Given the description of an element on the screen output the (x, y) to click on. 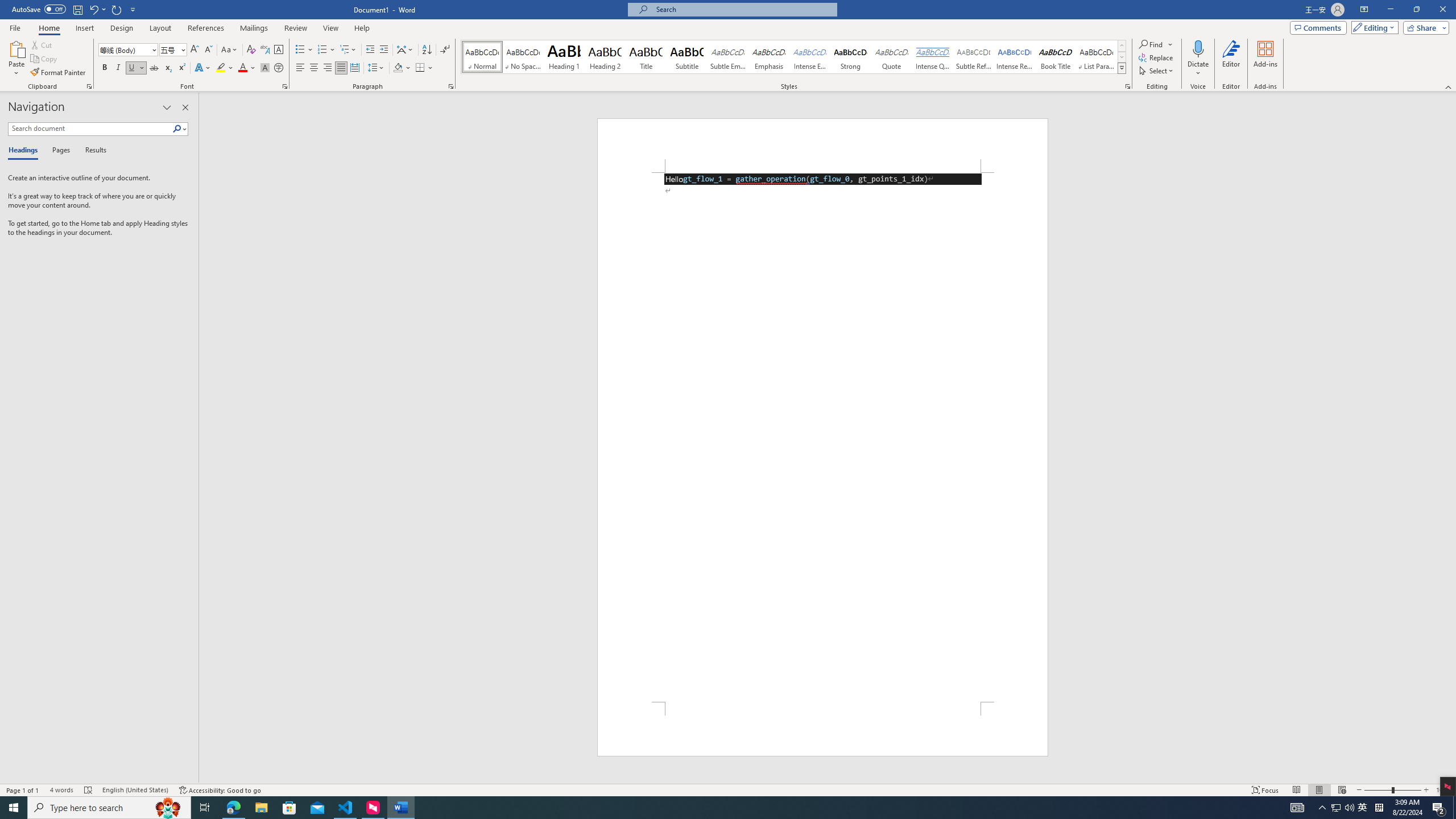
Open (182, 49)
Class: NetUIScrollBar (1450, 437)
Headings (25, 150)
Row Down (1121, 56)
Cut (42, 44)
Styles (1121, 67)
Clear Formatting (250, 49)
Align Right (327, 67)
Font Color (246, 67)
